Given the description of an element on the screen output the (x, y) to click on. 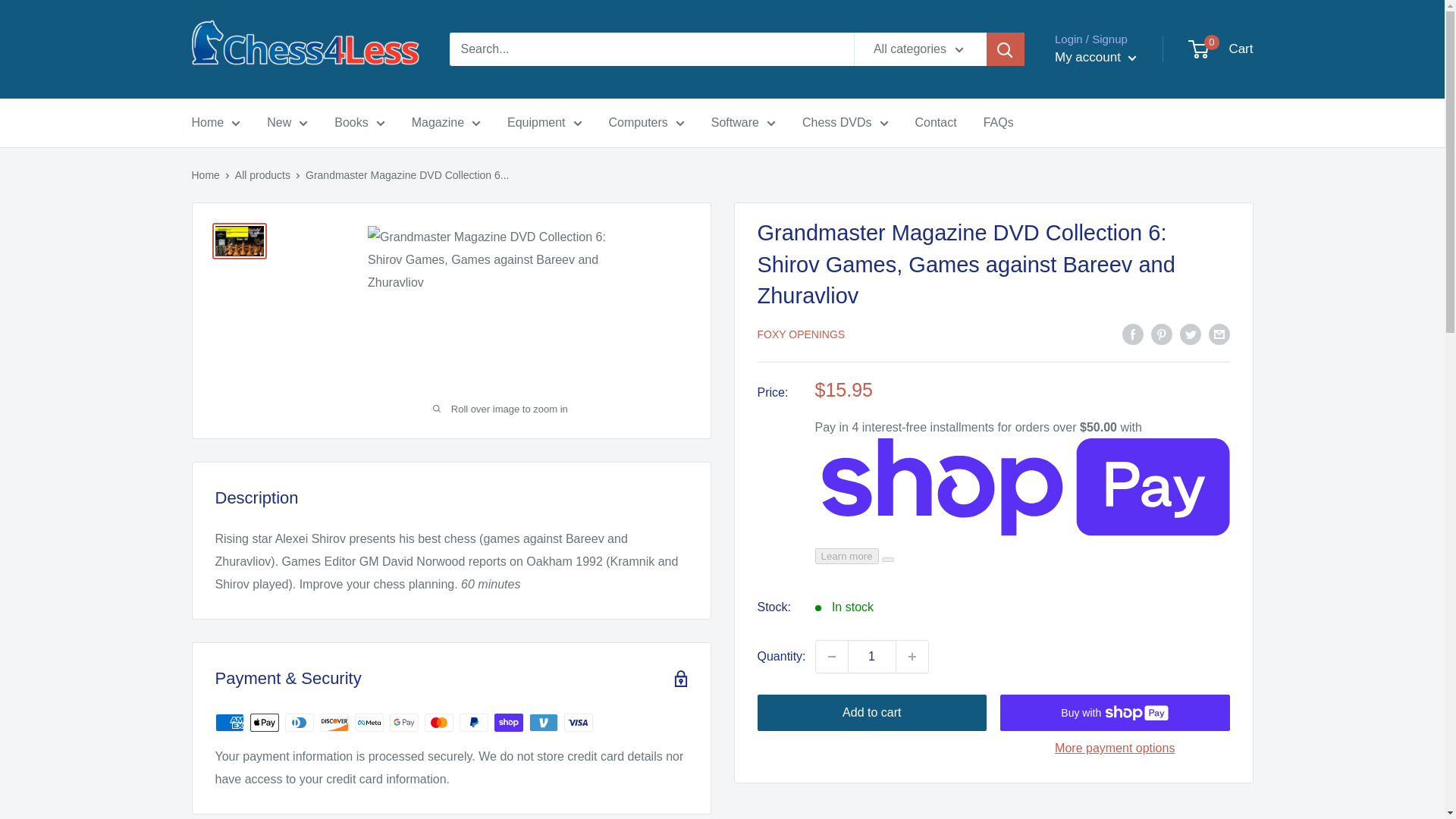
Decrease quantity by 1 (831, 656)
1 (871, 656)
Increase quantity by 1 (912, 656)
